Given the description of an element on the screen output the (x, y) to click on. 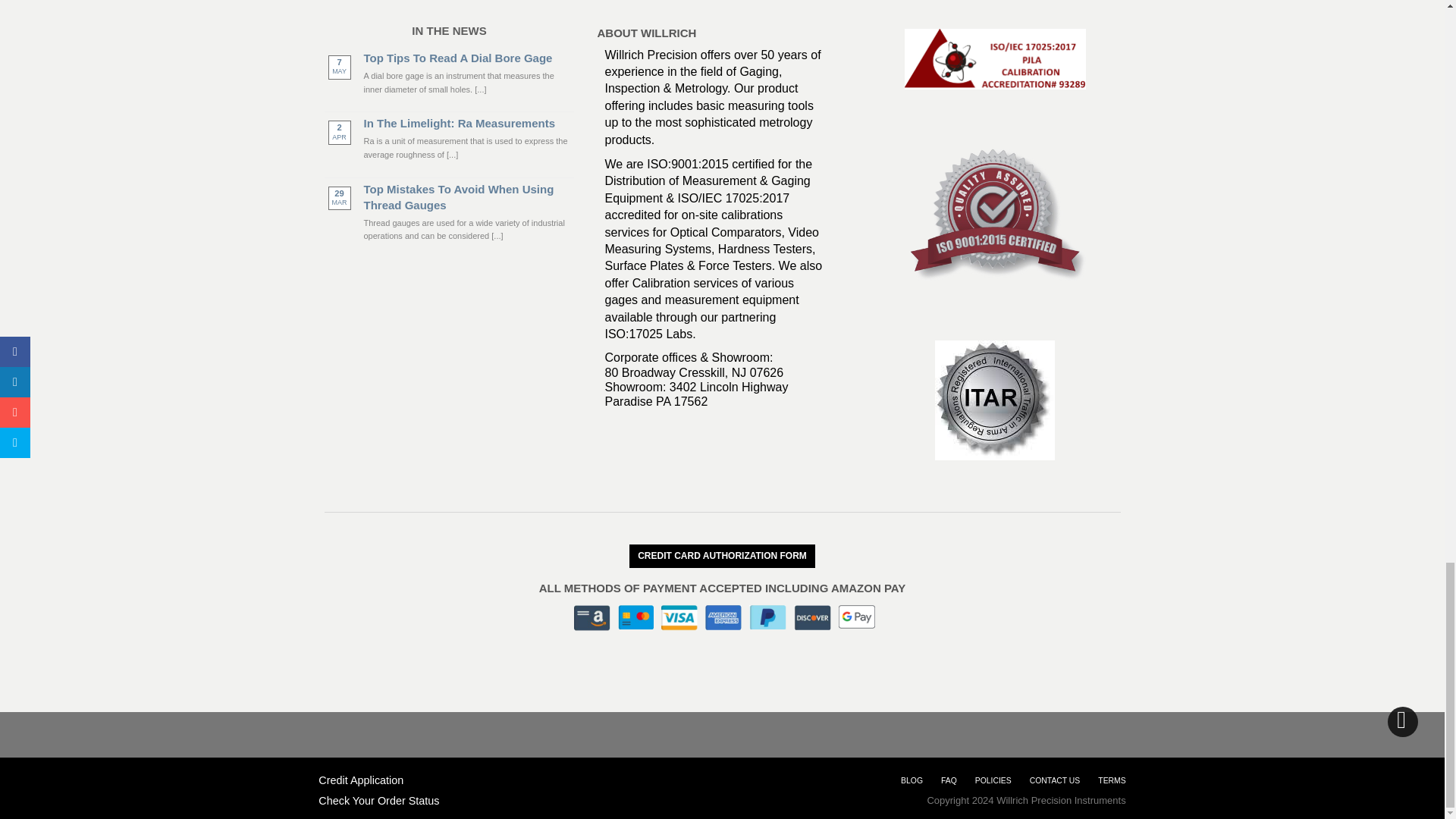
In The Limelight: Ra Measurements (469, 123)
Top Mistakes To Avoid When Using Thread Gauges (469, 196)
Top Tips To Read A Dial Bore Gage (469, 57)
